Given the description of an element on the screen output the (x, y) to click on. 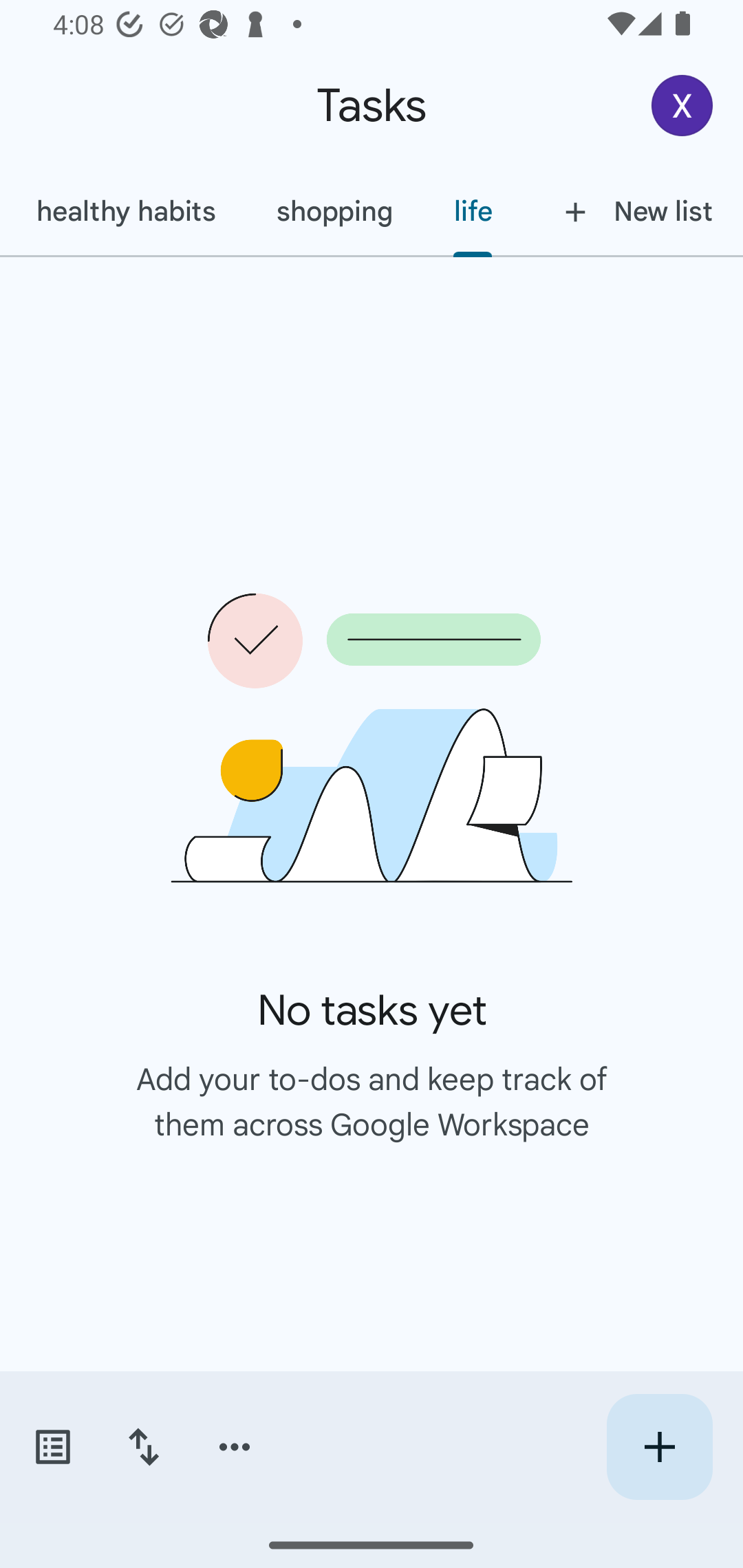
healthy habits (125, 211)
shopping (333, 211)
New list (632, 211)
Switch task lists (52, 1447)
Create new task (659, 1446)
Change sort order (143, 1446)
More options (234, 1446)
